Given the description of an element on the screen output the (x, y) to click on. 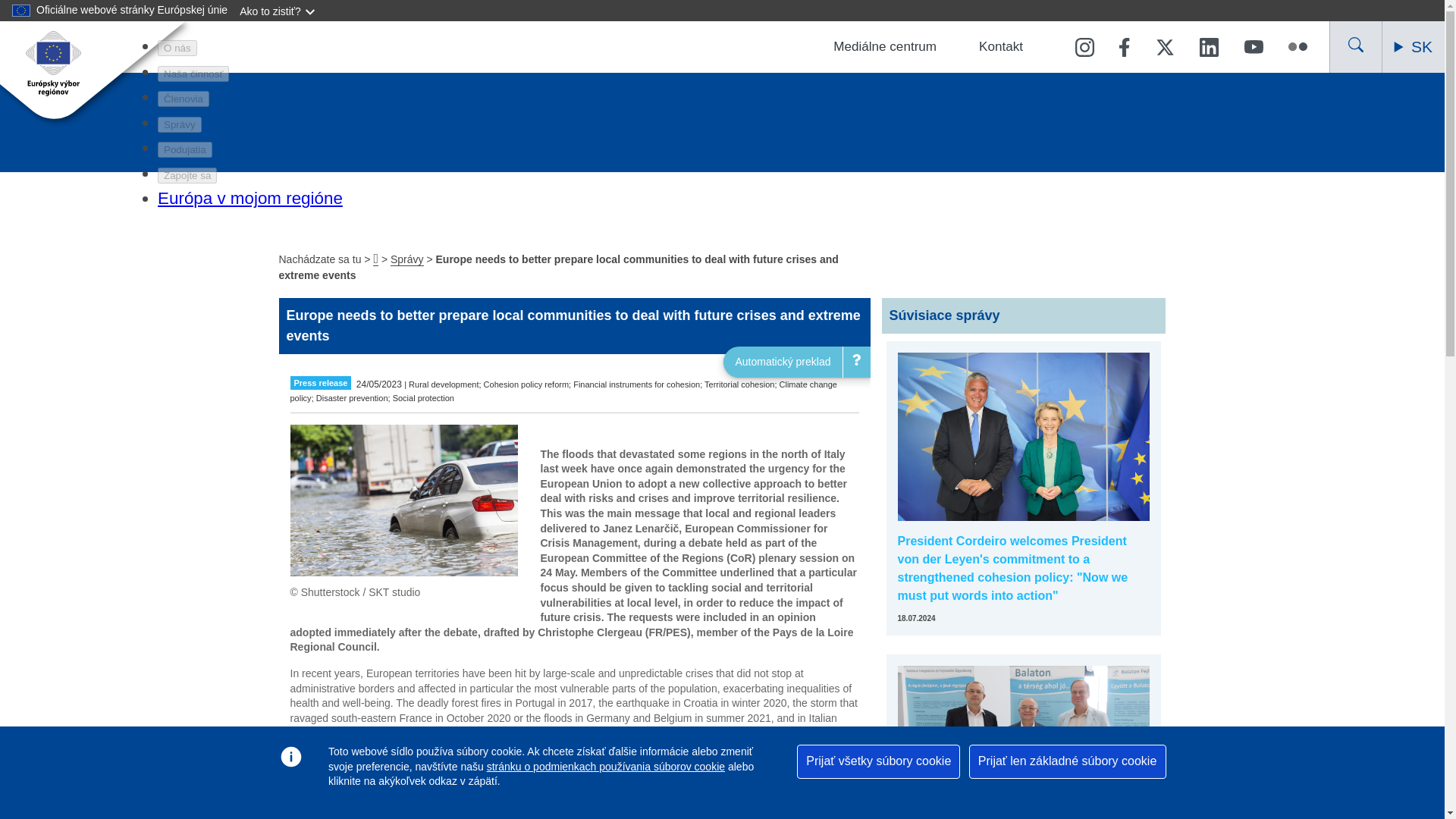
Climate change policy (562, 391)
Rural development (444, 384)
Social protection (423, 397)
Press release (320, 382)
Kontakt (1000, 46)
Territorial cohesion (739, 384)
Cohesion policy reform (526, 384)
Financial instruments for cohesion (636, 384)
Disaster prevention (351, 397)
